Given the description of an element on the screen output the (x, y) to click on. 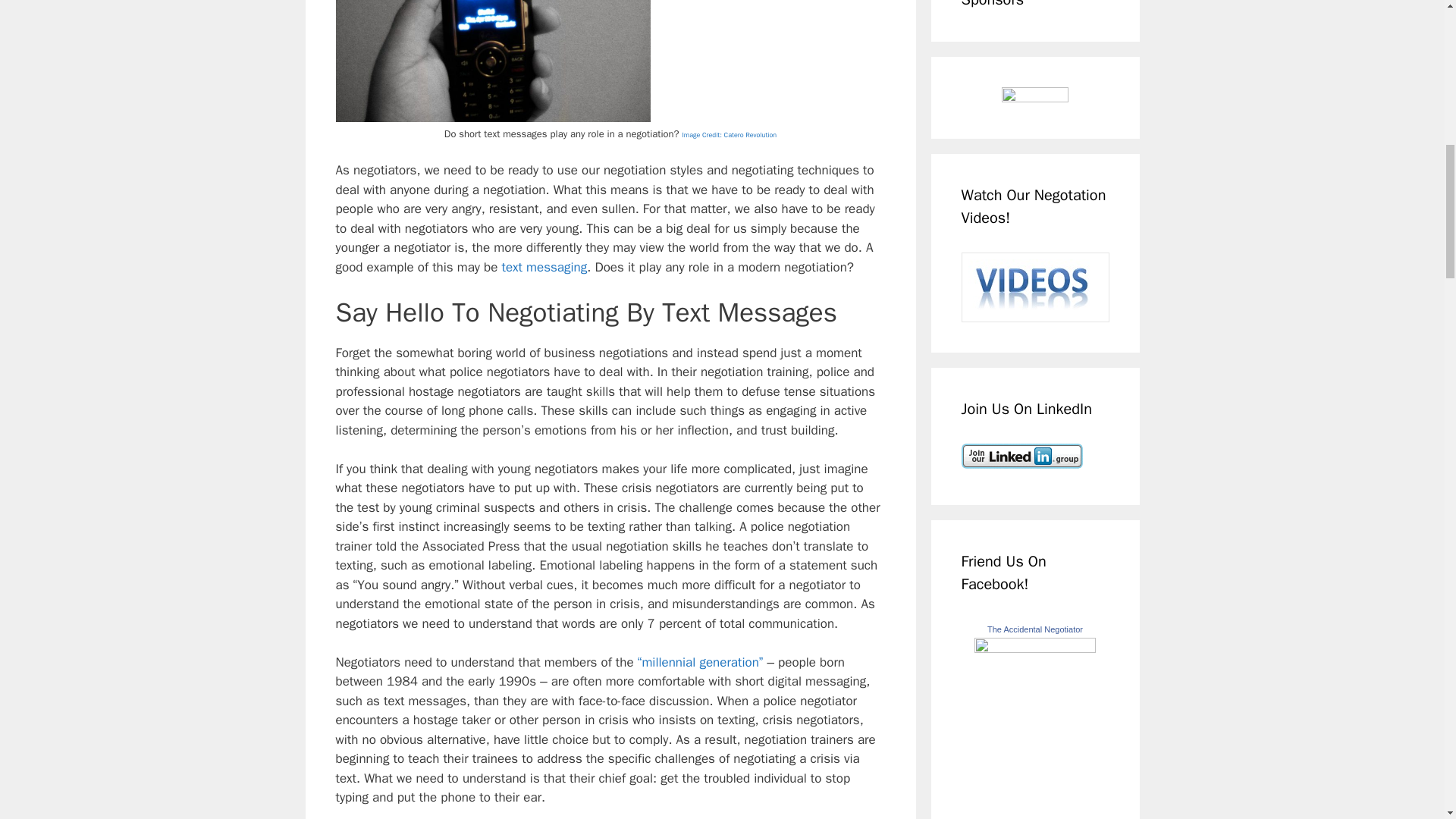
Who are the millennials? (699, 662)
text messaging (545, 267)
The Accidental Negotiator (1035, 628)
 Can Sales Negotiation Be Done Via Email and Text?  (545, 267)
Image Credit: Catero Revolution (728, 133)
The Accidental Negotiator (1035, 648)
The Accidental Negotiator (1035, 628)
